Given the description of an element on the screen output the (x, y) to click on. 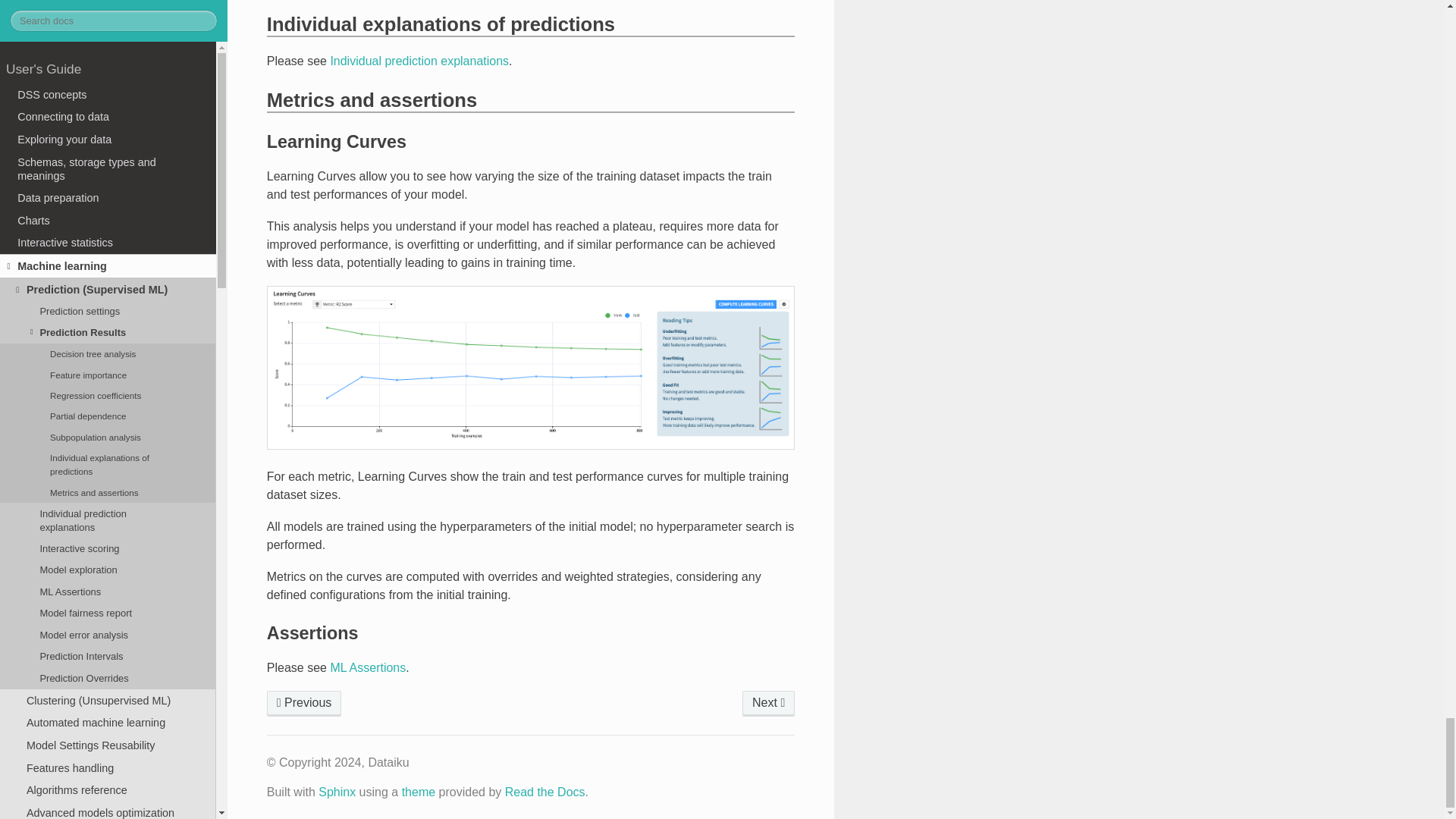
Prediction settings (304, 703)
Individual prediction explanations (768, 703)
